Given the description of an element on the screen output the (x, y) to click on. 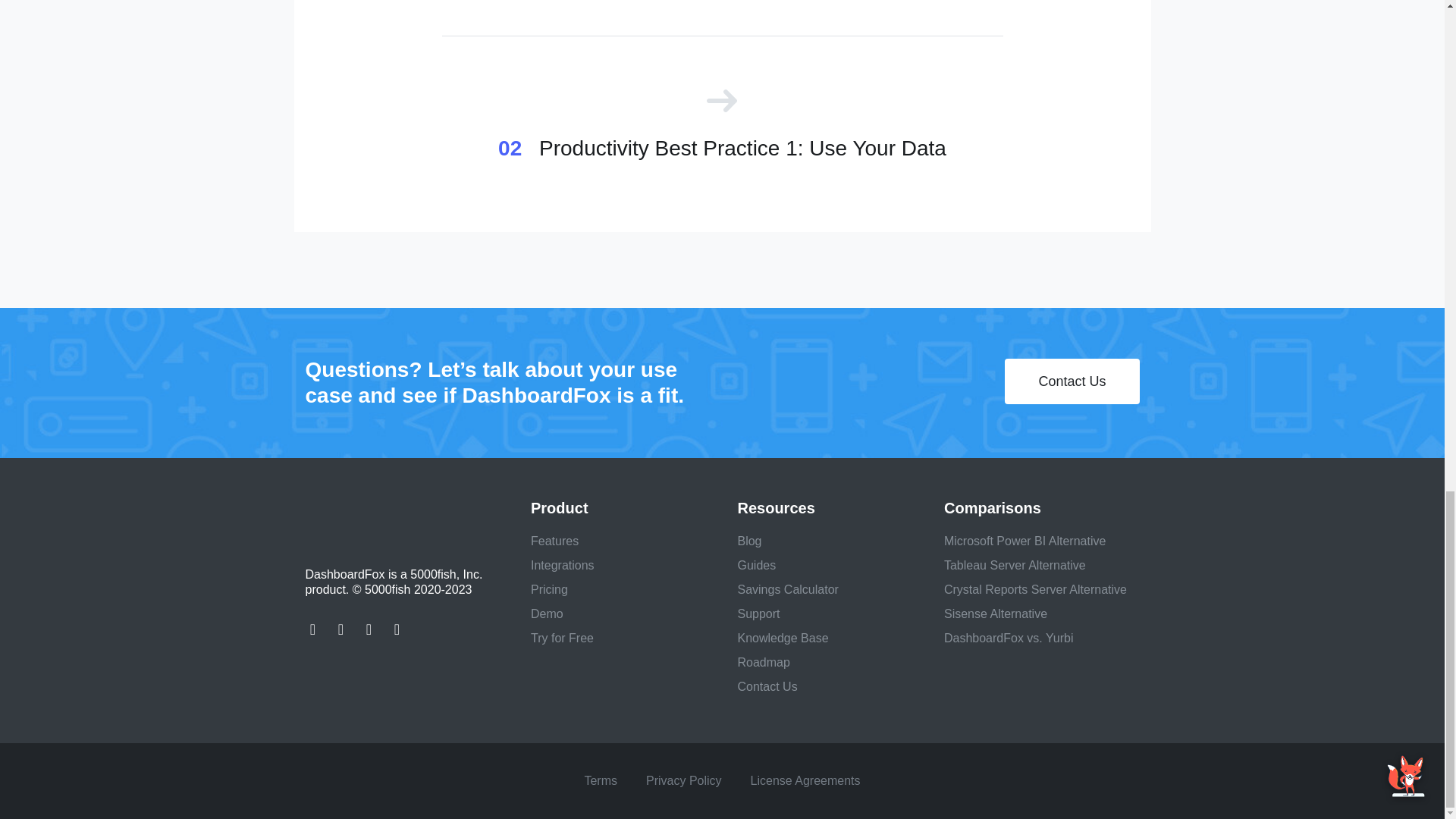
Roadmap (762, 662)
Support (757, 613)
Tableau Server Alternative (1014, 564)
Microsoft Power BI Alternative (1024, 540)
Sisense Alternative (994, 613)
Contact Us (1071, 381)
Pricing (549, 589)
Demo (547, 613)
5000fish (392, 517)
Savings Calculator (787, 589)
Privacy Policy (684, 780)
Guides (756, 564)
Crystal Reports Server Alternative (1034, 589)
Contact Us (766, 686)
Blog (748, 540)
